Given the description of an element on the screen output the (x, y) to click on. 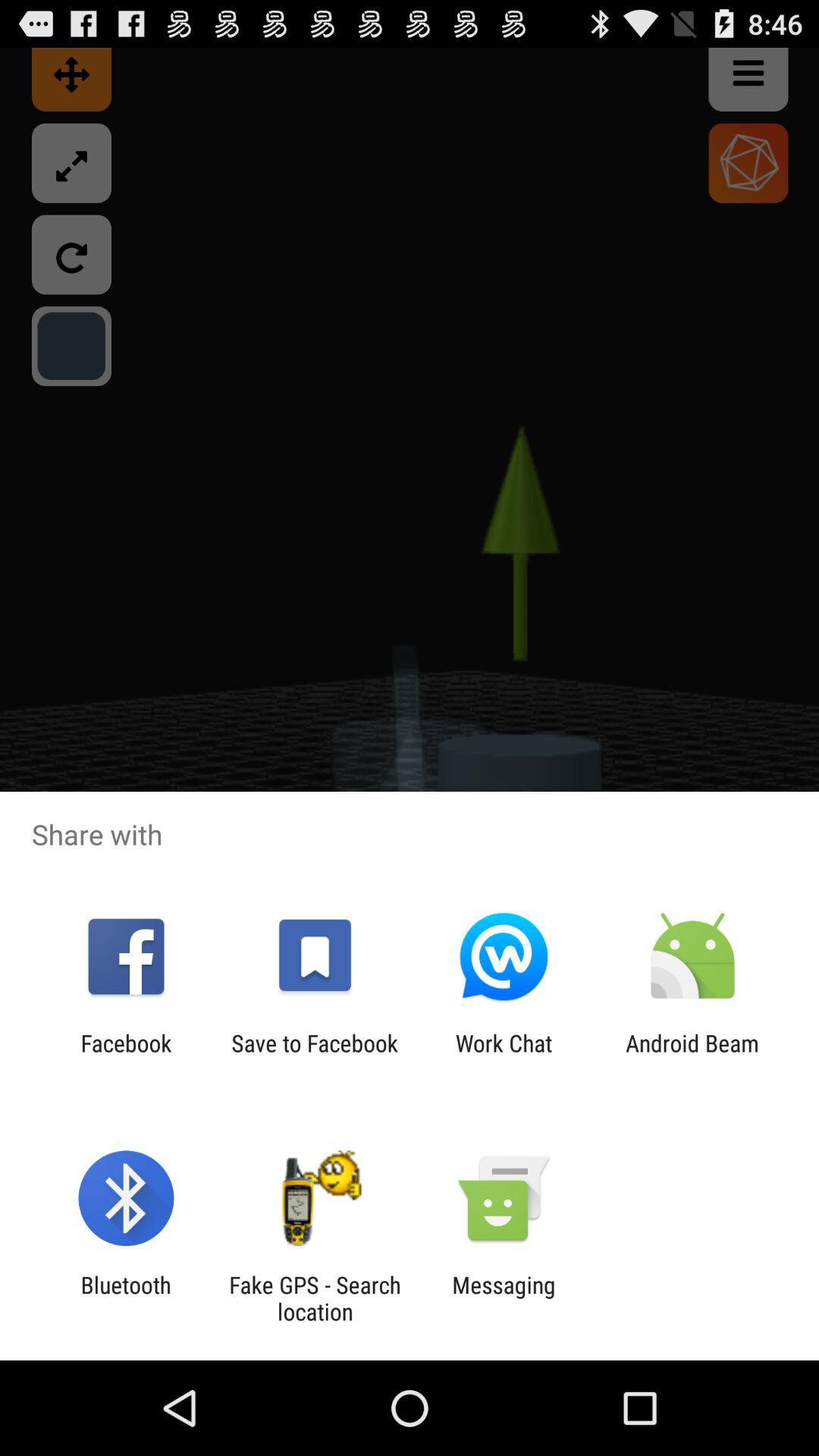
scroll to the android beam (692, 1056)
